Given the description of an element on the screen output the (x, y) to click on. 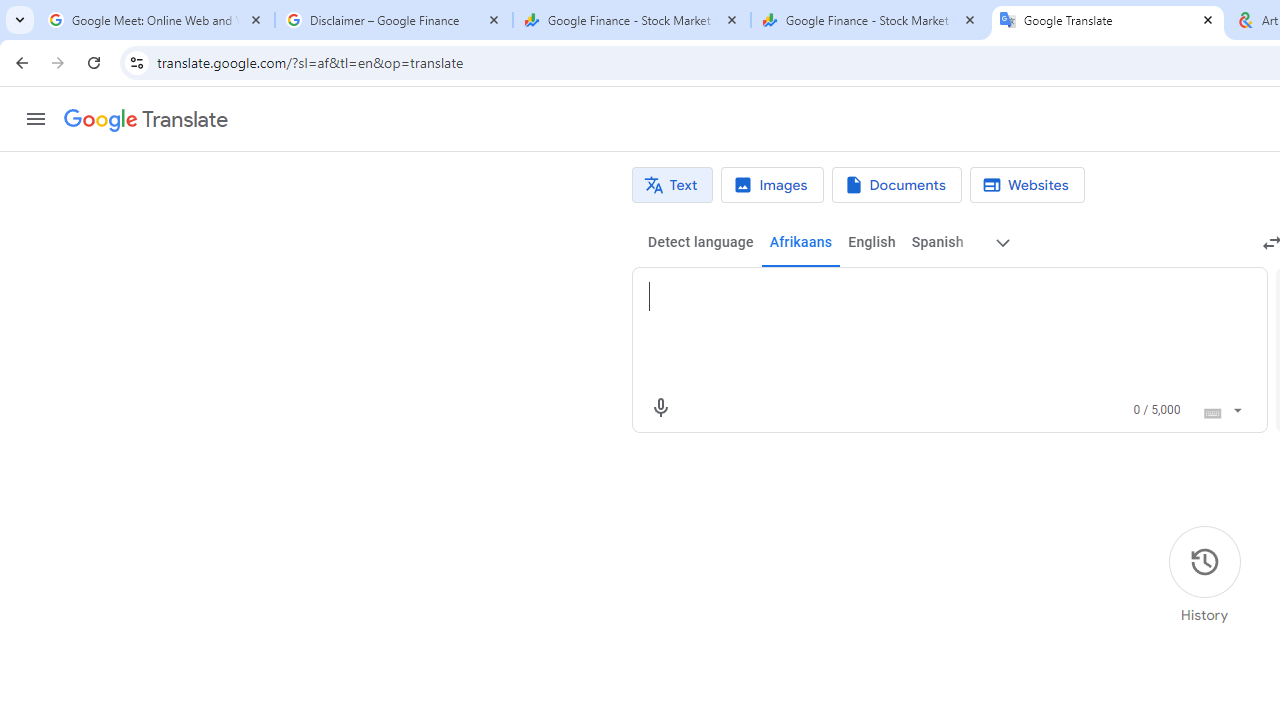
More source languages (1003, 242)
Spanish (936, 242)
English (870, 242)
Translate by voice (660, 407)
Google Translate (1108, 20)
Website translation (1026, 185)
